Given the description of an element on the screen output the (x, y) to click on. 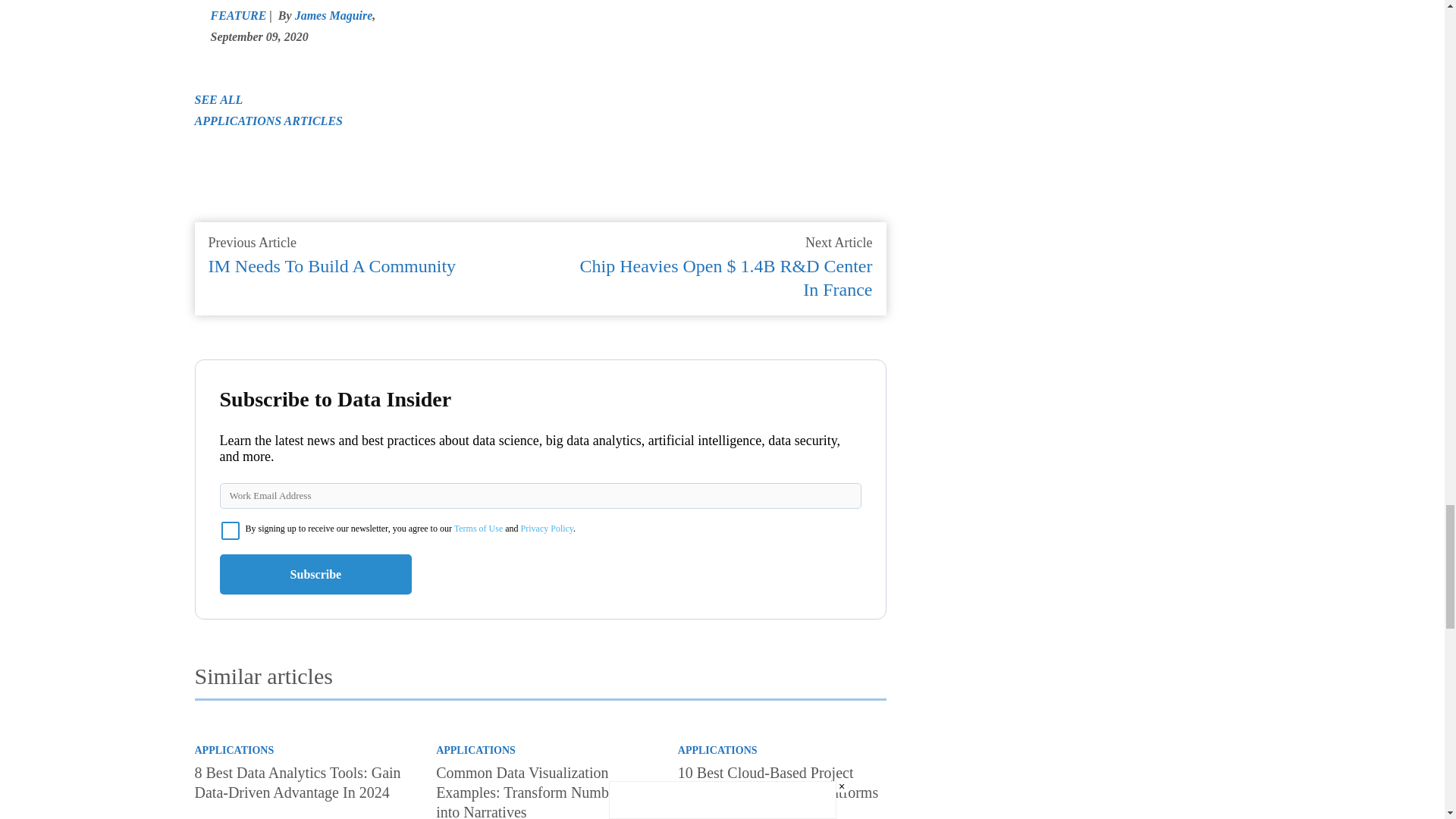
on (230, 530)
